Given the description of an element on the screen output the (x, y) to click on. 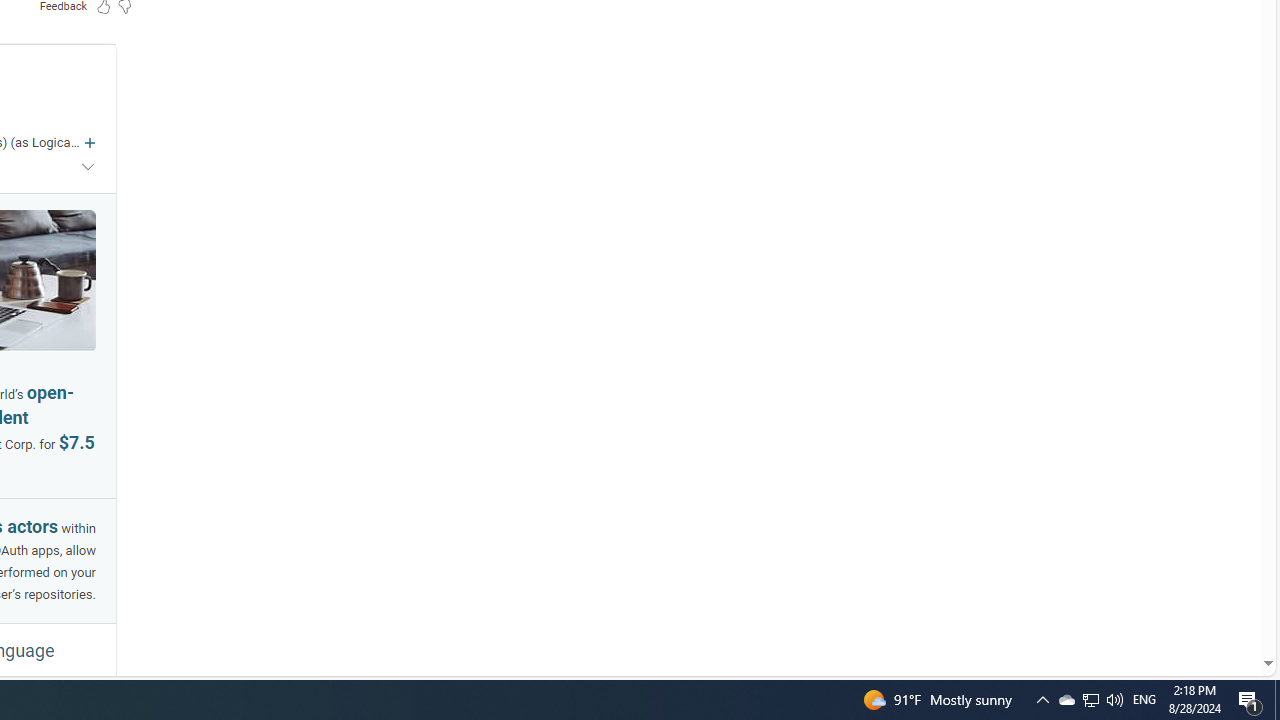
Search more (1222, 604)
AutomationID: mfa_root (1192, 603)
